Given the description of an element on the screen output the (x, y) to click on. 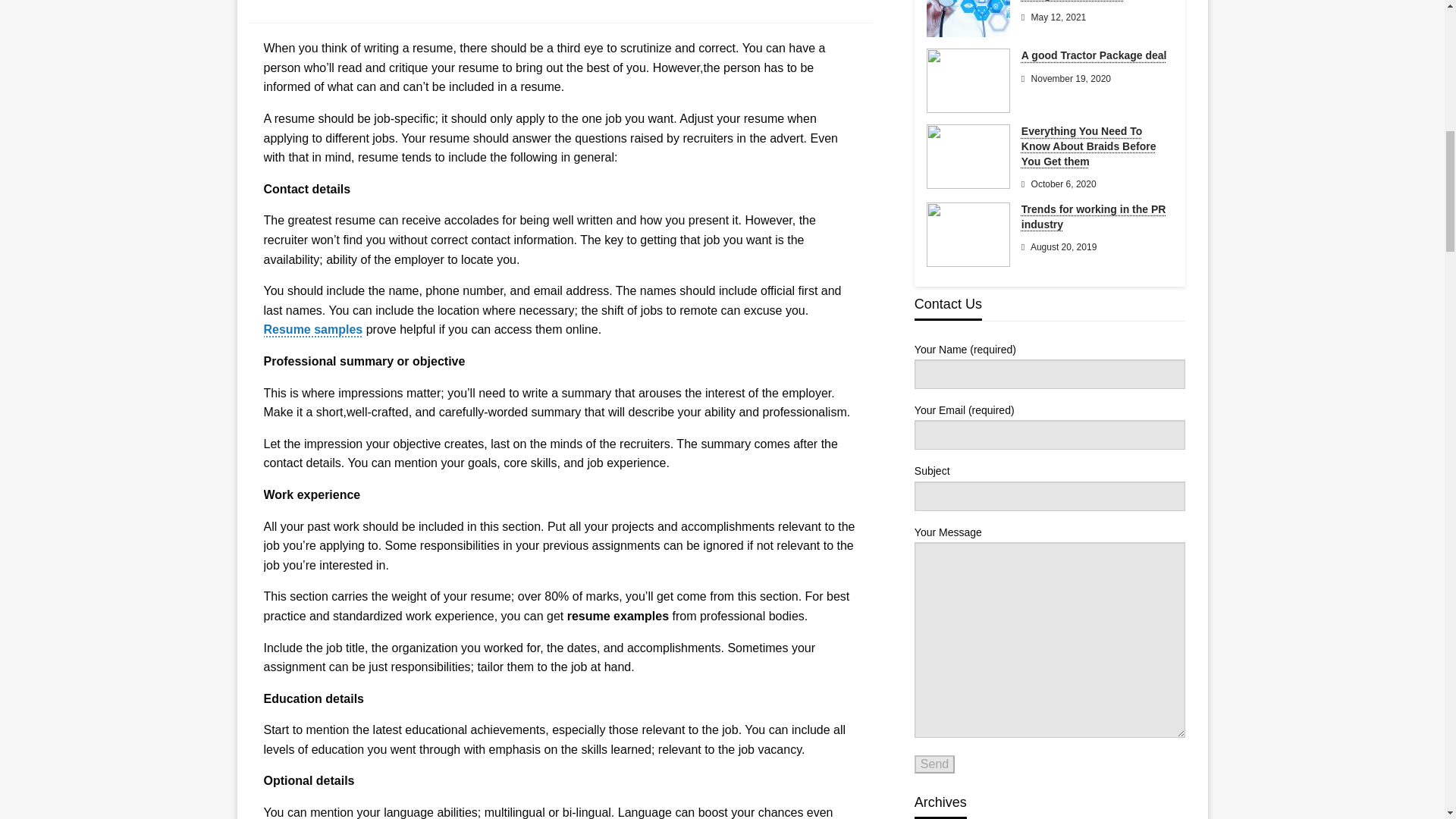
Resume samples (312, 328)
Send (934, 764)
